Given the description of an element on the screen output the (x, y) to click on. 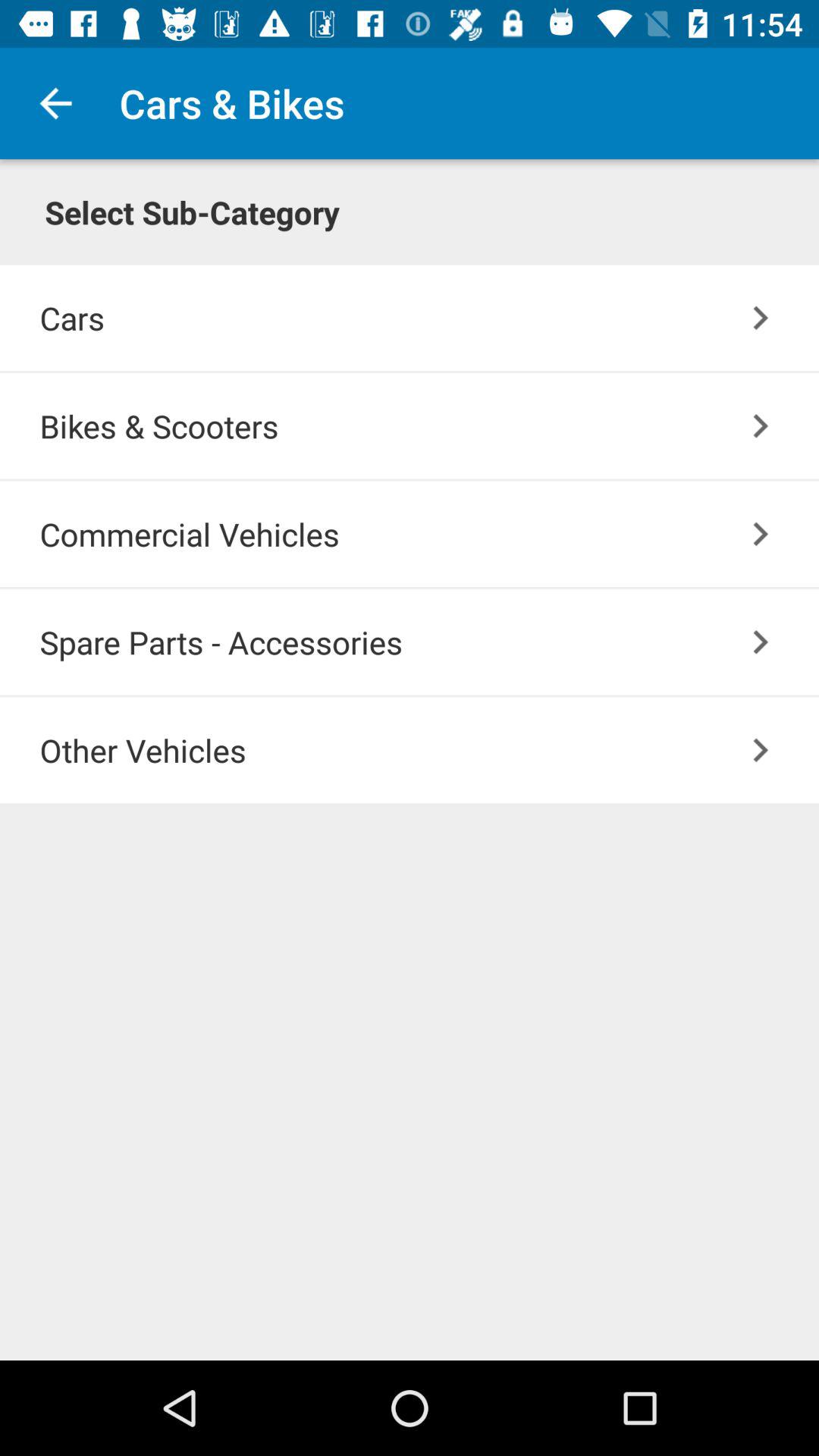
click the item below cars item (760, 425)
